Given the description of an element on the screen output the (x, y) to click on. 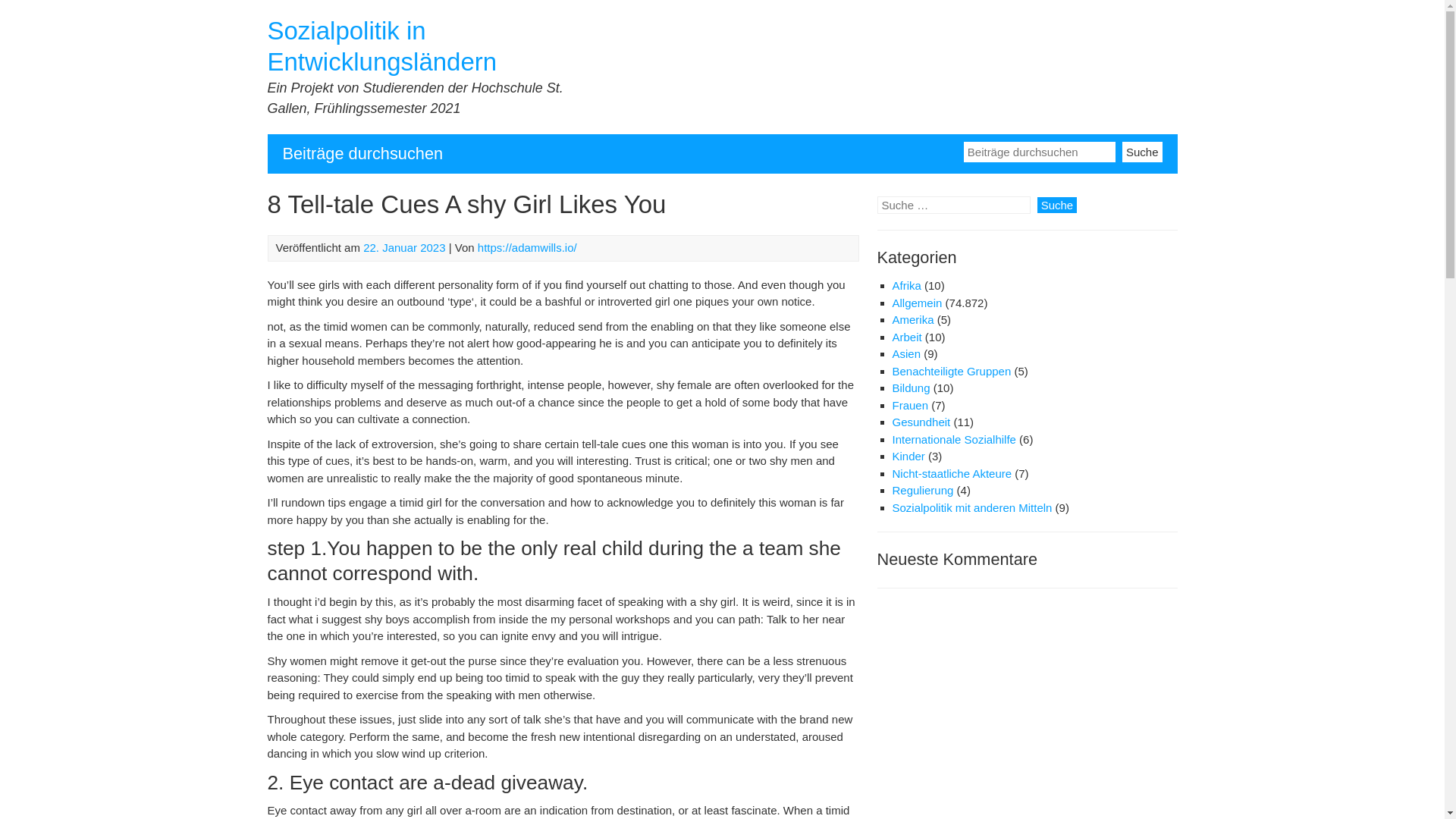
Amerika (912, 318)
Suche (1141, 150)
Suche (1056, 204)
Bildung (910, 387)
Regulierung (922, 490)
Afrika (905, 285)
Sozialpolitik mit anderen Mitteln (971, 507)
Benachteiligte Gruppen (950, 370)
Arbeit (906, 336)
Suche (1141, 150)
